Given the description of an element on the screen output the (x, y) to click on. 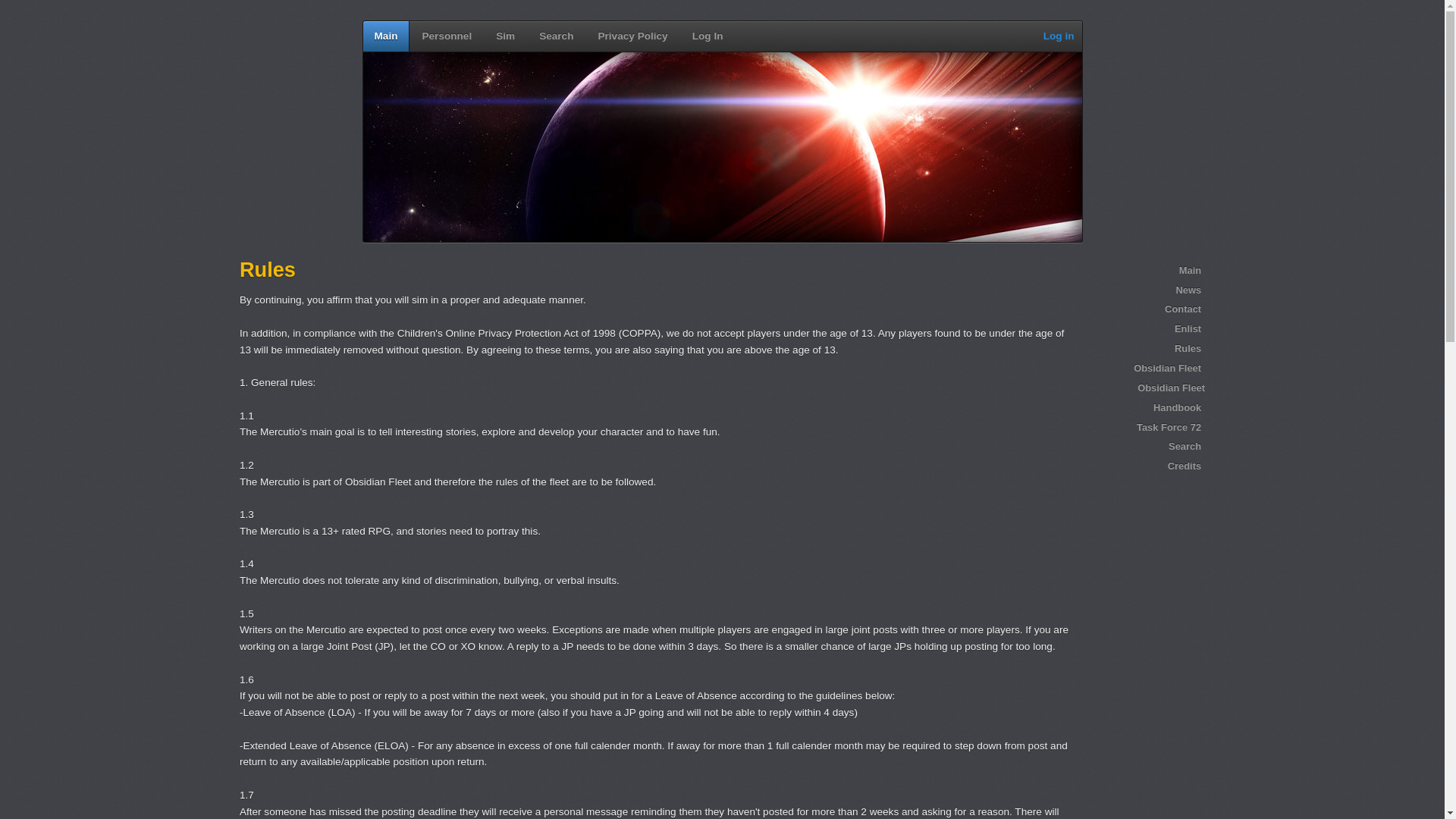
Log In (707, 36)
Obsidian Fleet Handbook (1144, 397)
Rules (1144, 348)
News (1144, 290)
Task Force 72 (1144, 427)
Main (385, 36)
Obsidian Fleet (1144, 368)
Contact (1144, 309)
Search (1144, 446)
Sim (505, 36)
